Given the description of an element on the screen output the (x, y) to click on. 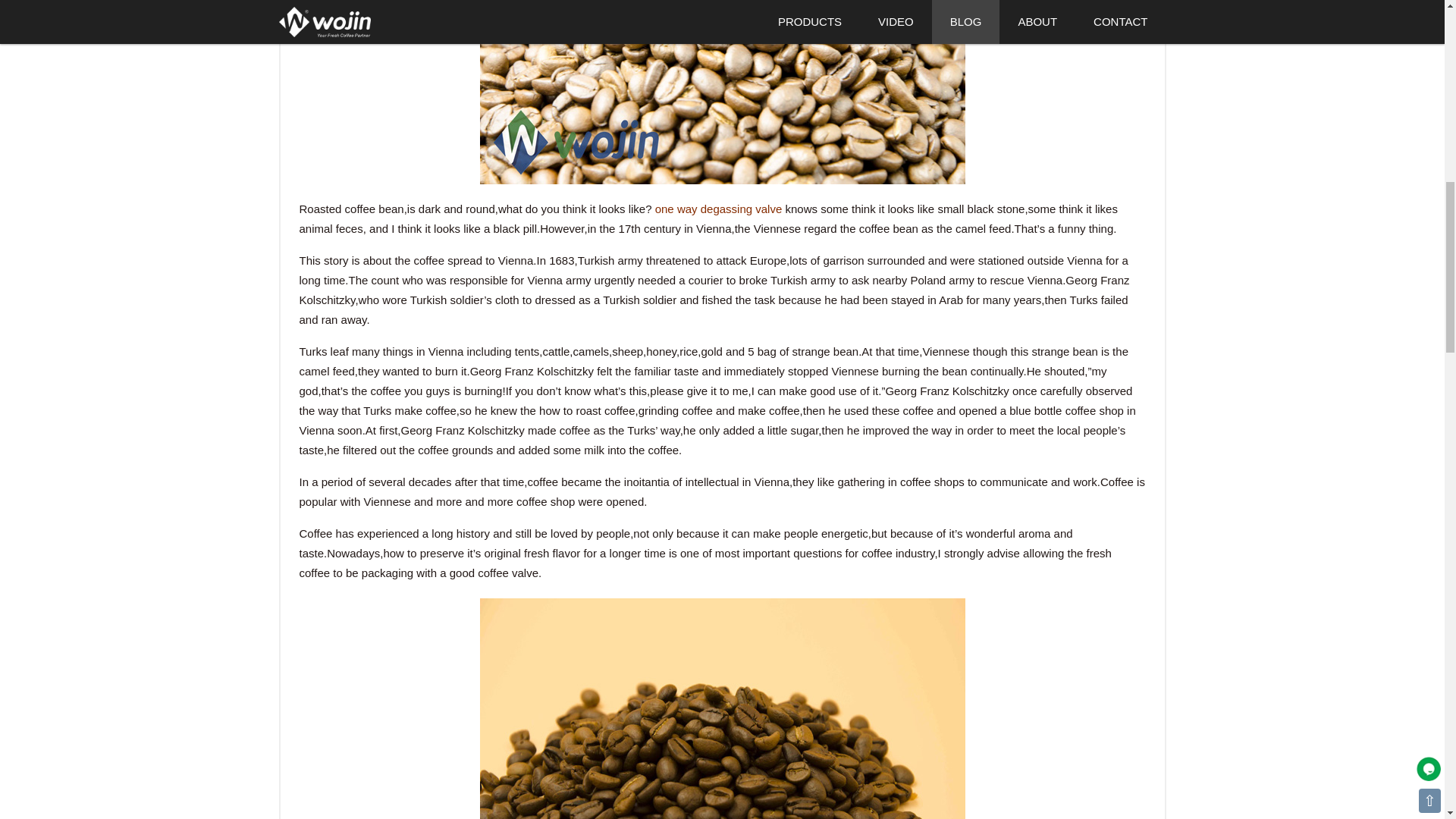
one way degassing valve (719, 208)
